Given the description of an element on the screen output the (x, y) to click on. 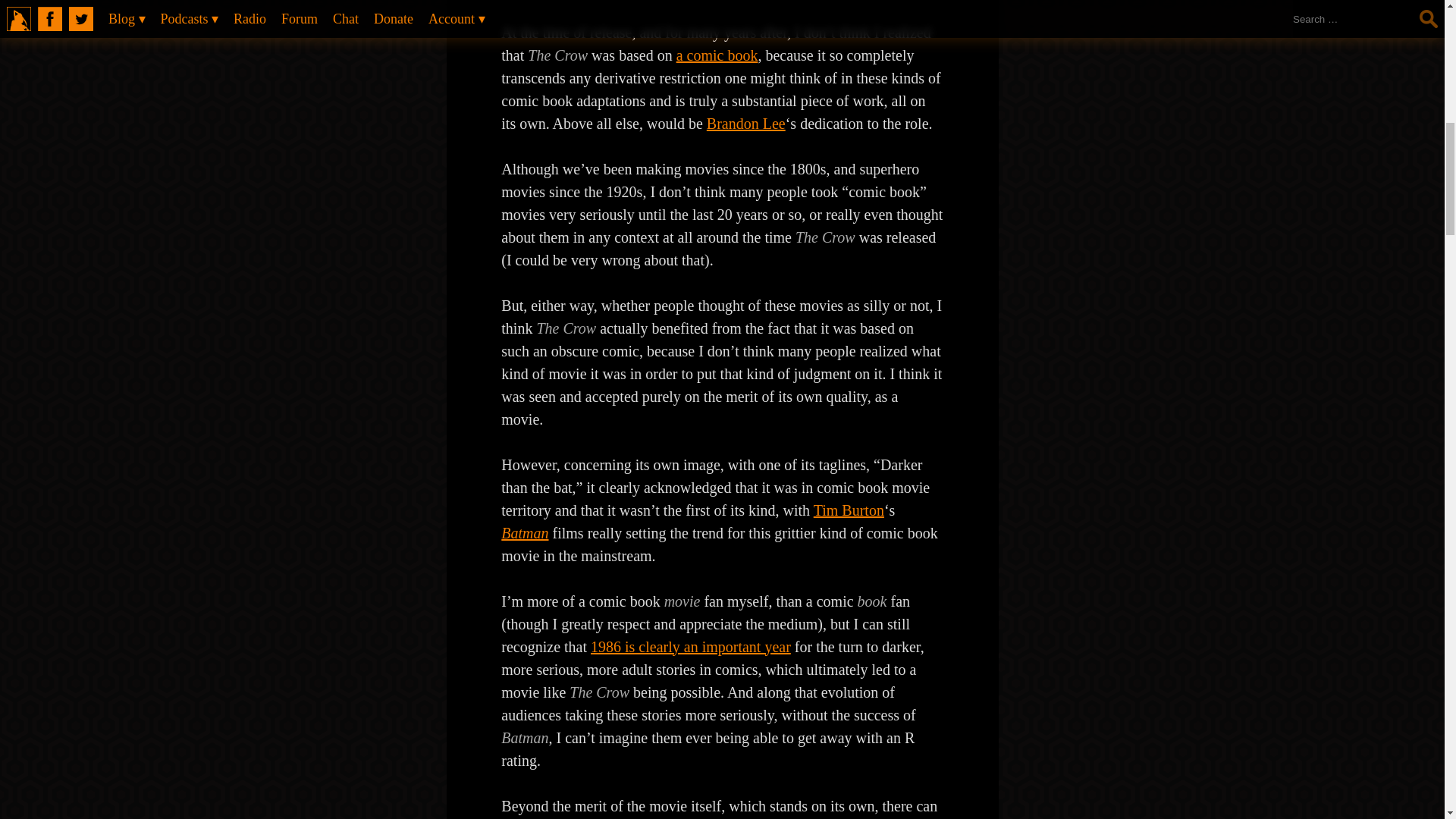
Brandon Lee (746, 123)
a comic book (717, 54)
Tim Burton (848, 510)
